Given the description of an element on the screen output the (x, y) to click on. 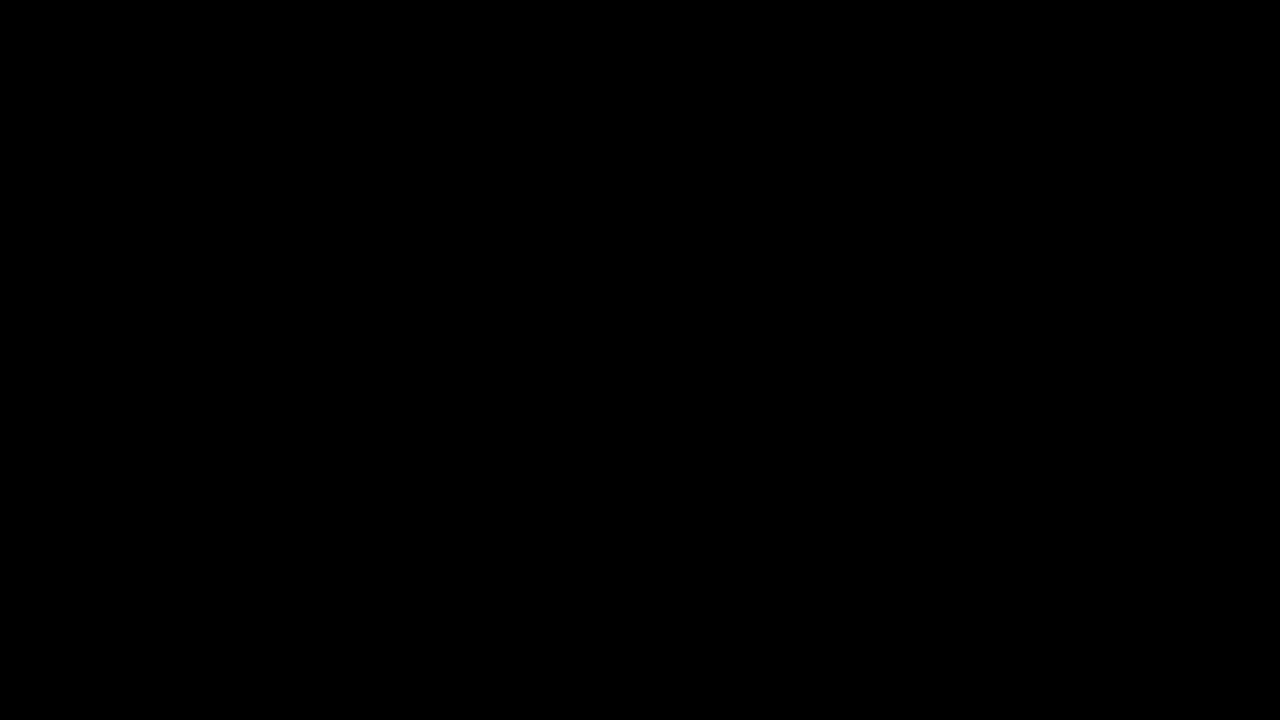
Auto-hide Reading Toolbar (1118, 15)
Restore Down (1210, 15)
Minimize (1164, 15)
